Given the description of an element on the screen output the (x, y) to click on. 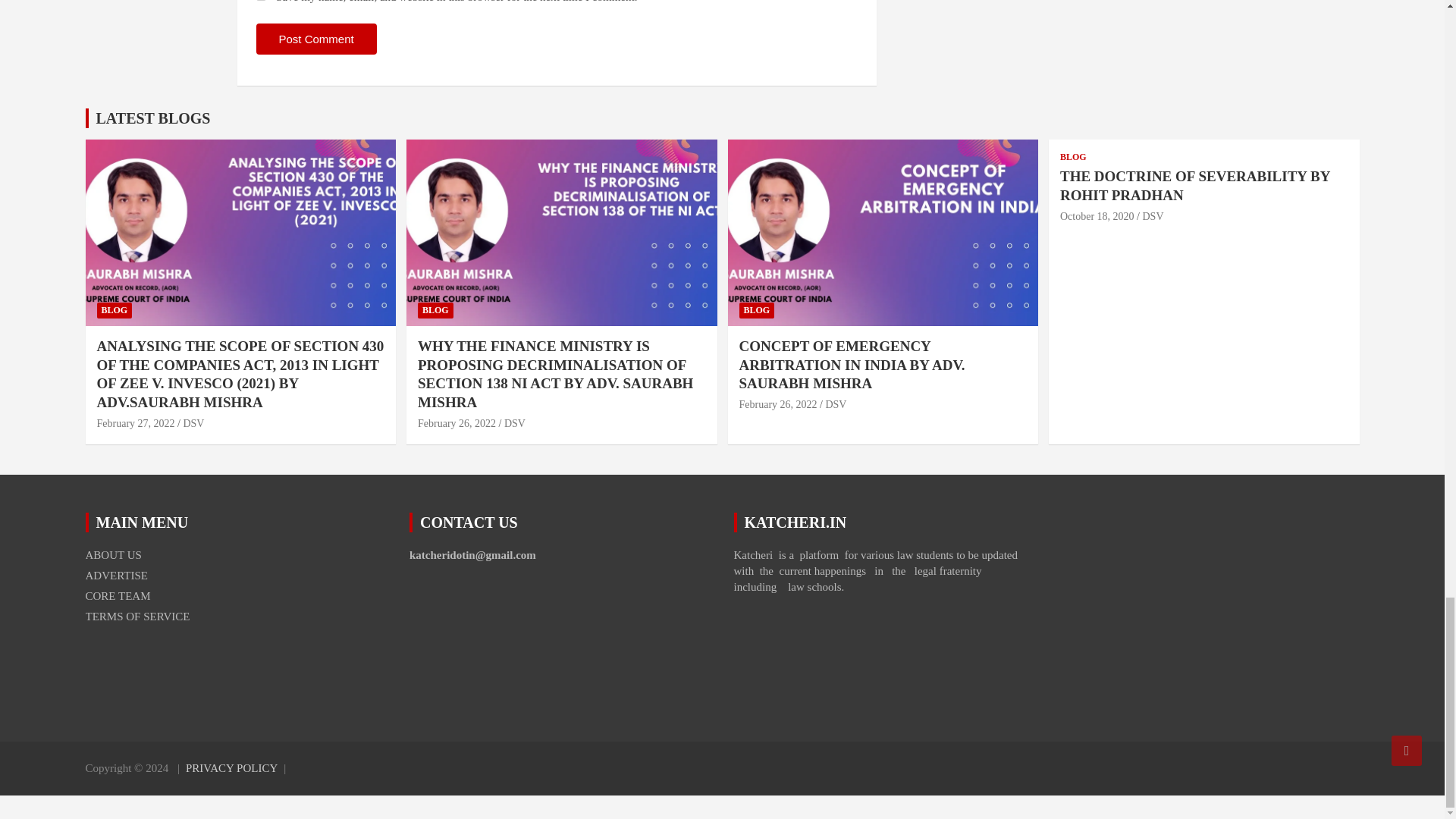
THE DOCTRINE OF SEVERABILITY BY ROHIT PRADHAN (1096, 215)
Post Comment (316, 38)
